Given the description of an element on the screen output the (x, y) to click on. 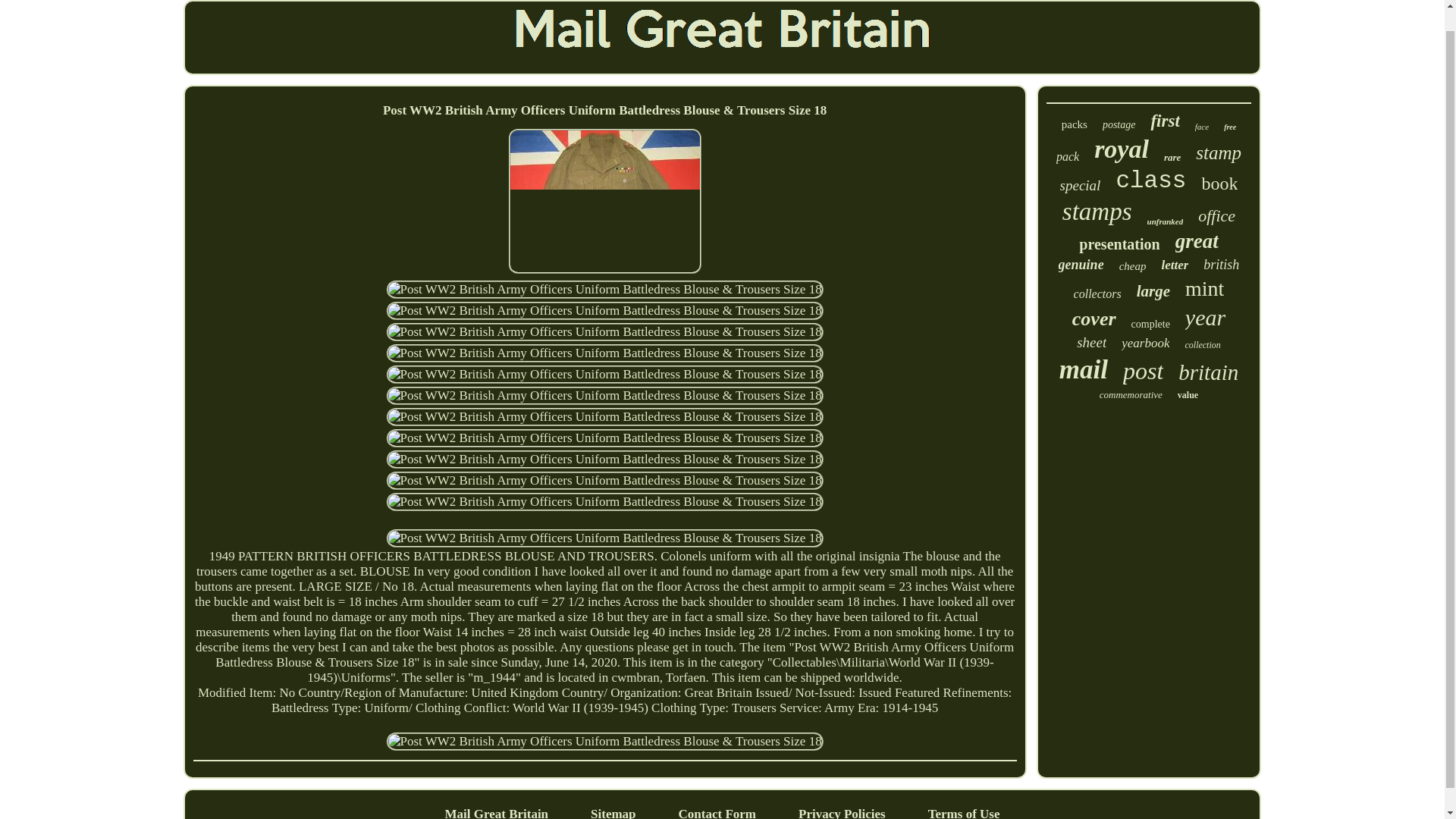
year (1205, 317)
sheet (1091, 342)
first (1164, 121)
collectors (1097, 294)
mint (1204, 288)
british (1221, 264)
free (1230, 126)
stamps (1097, 212)
large (1153, 291)
complete (1150, 324)
